Given the description of an element on the screen output the (x, y) to click on. 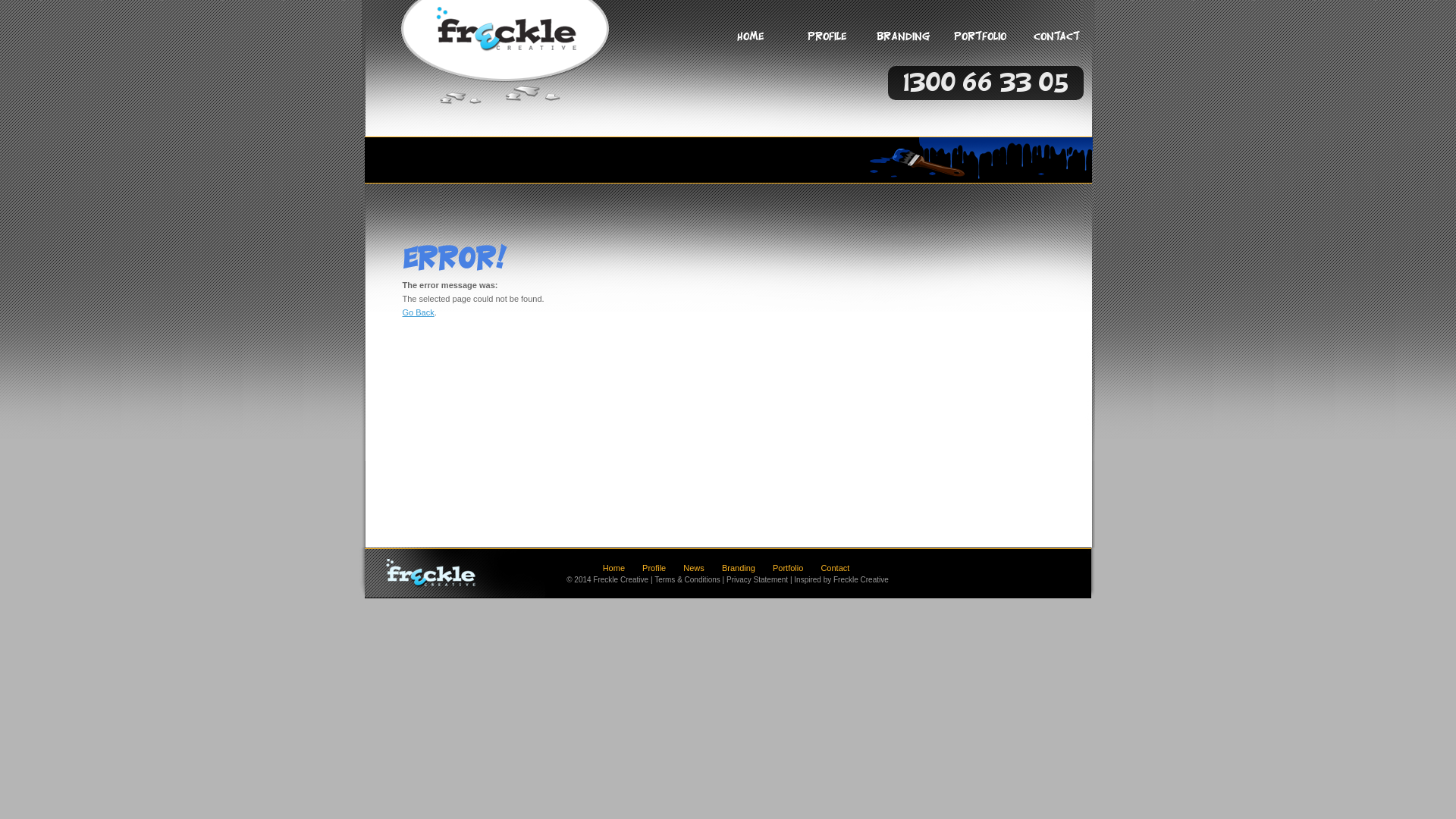
News Element type: text (693, 567)
Portfolio Element type: text (979, 40)
Branding Element type: text (902, 40)
Home Element type: text (749, 40)
Terms & Conditions Element type: text (687, 579)
Profile Element type: text (826, 40)
Home Element type: text (613, 567)
Privacy Statement Element type: text (756, 579)
Go Back Element type: text (417, 311)
Contact Element type: text (834, 567)
Contact Element type: text (1055, 40)
Profile Element type: text (653, 567)
Branding Element type: text (738, 567)
Portfolio Element type: text (787, 567)
